Given the description of an element on the screen output the (x, y) to click on. 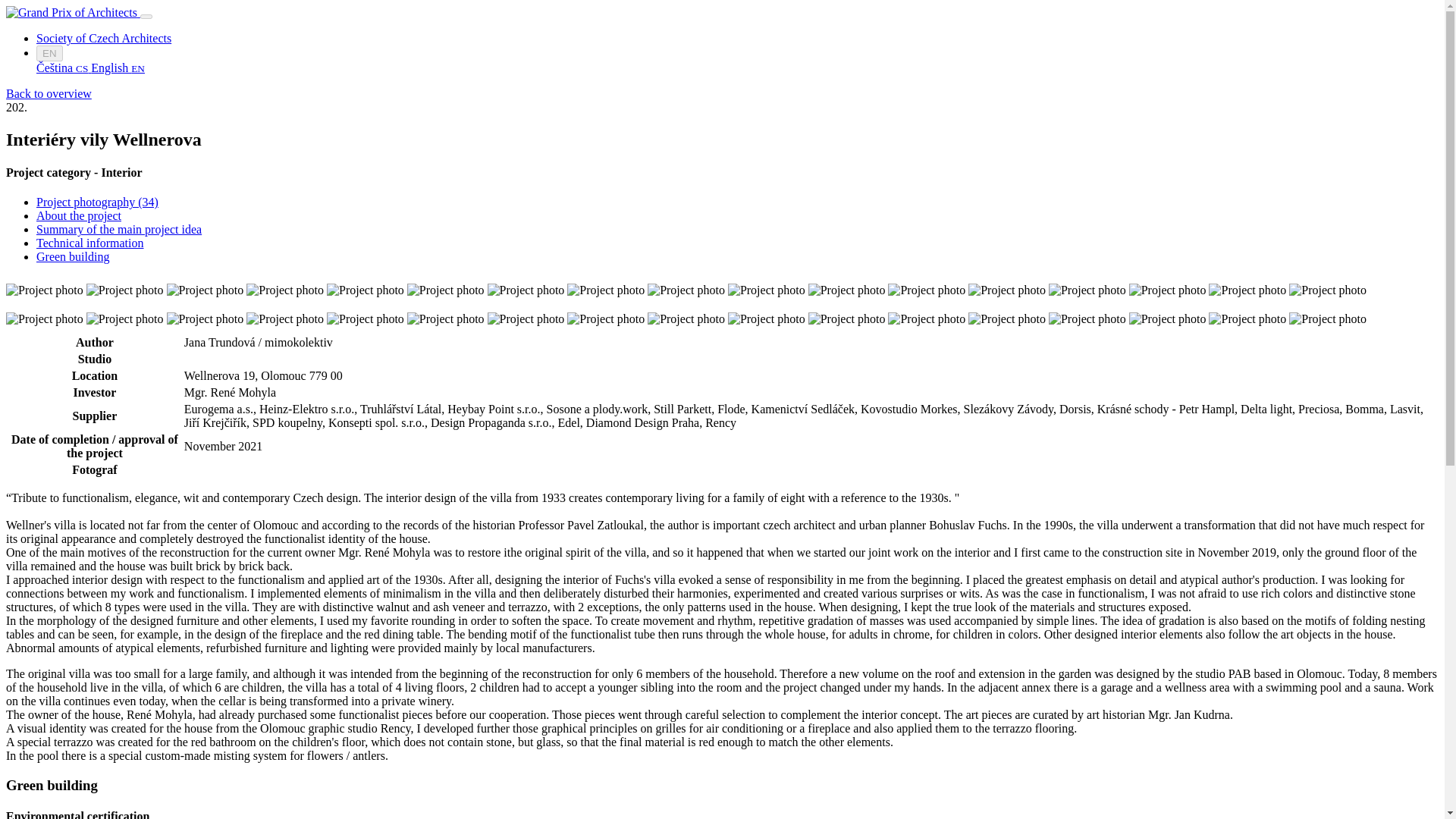
Society of Czech Architects (103, 38)
EN (49, 53)
Green building (72, 256)
Summary of the main project idea (119, 228)
Back to overview (48, 92)
Technical information (90, 242)
About the project (78, 215)
English EN (117, 67)
